Given the description of an element on the screen output the (x, y) to click on. 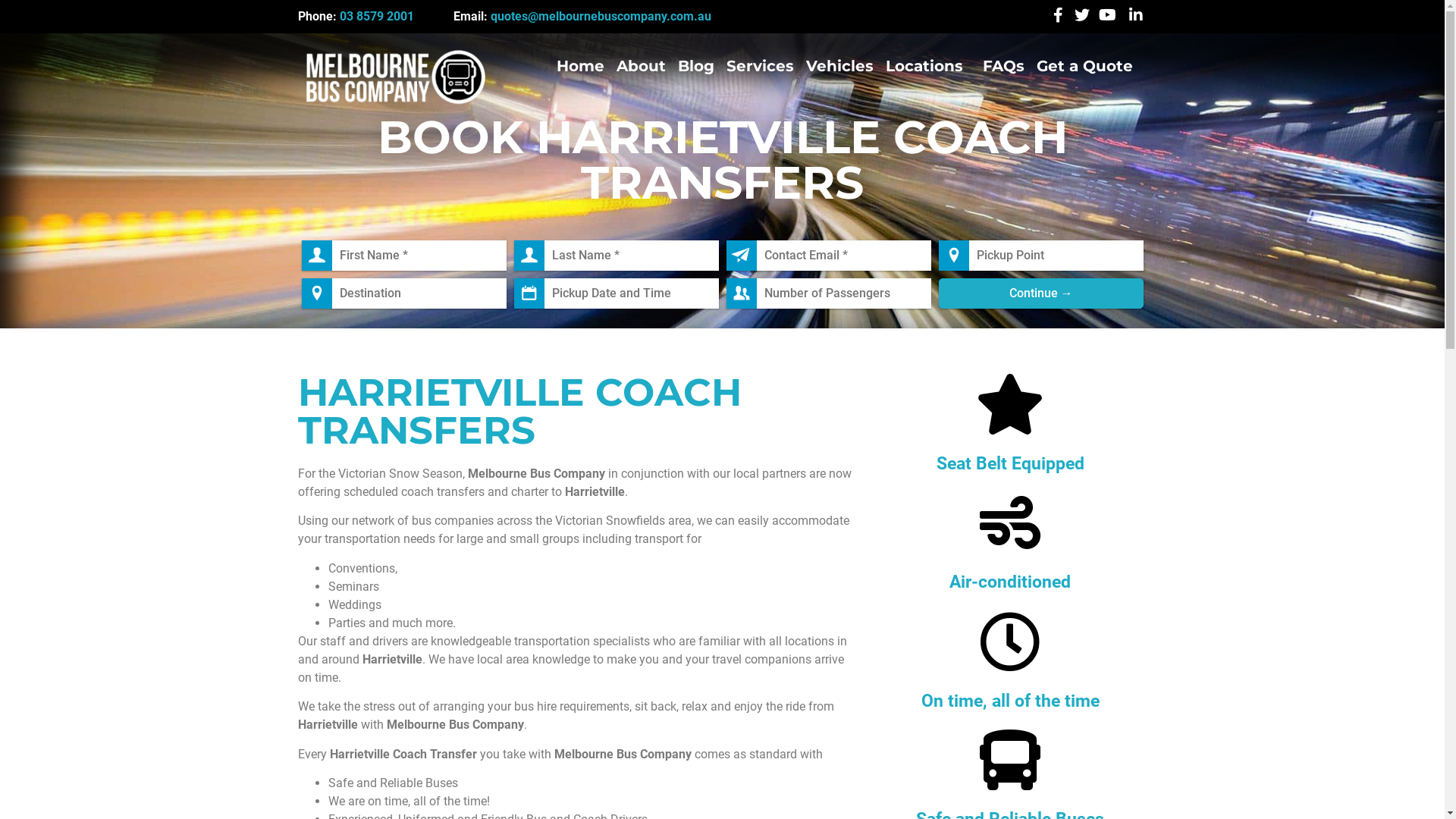
Vehicles Element type: text (839, 65)
Blog Element type: text (695, 65)
Services Element type: text (760, 65)
About Element type: text (640, 65)
Get a Quote Element type: text (1084, 65)
Locations Element type: text (927, 65)
03 8579 2001 Element type: text (376, 16)
quotes@melbournebuscompany.com.au Element type: text (600, 16)
Home Element type: text (580, 65)
FAQs Element type: text (1003, 65)
